Given the description of an element on the screen output the (x, y) to click on. 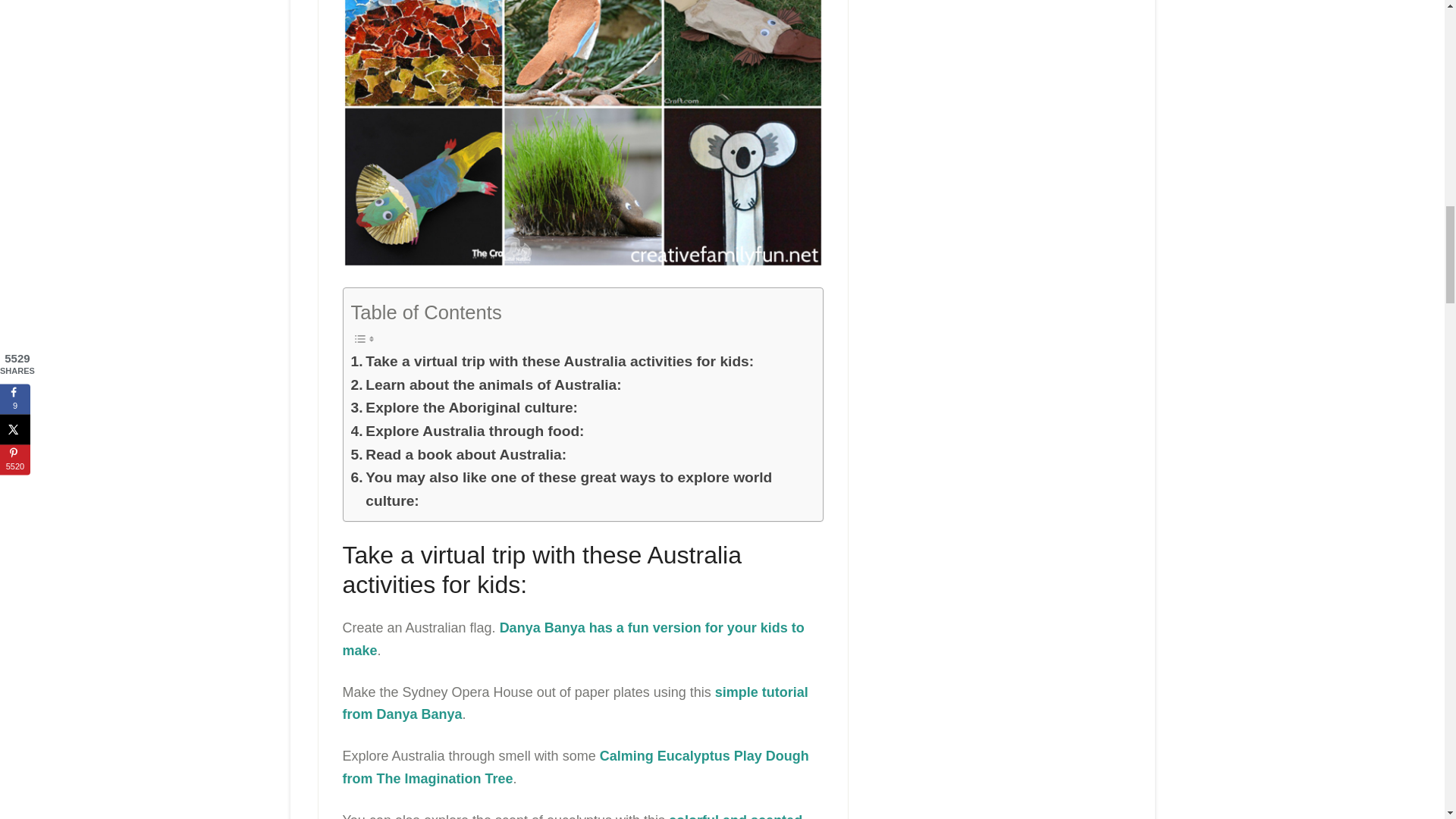
Read a book about Australia: (458, 454)
Explore Australia through food: (466, 431)
Learn about the animals of Australia: (485, 385)
Learn about the animals of Australia: (485, 385)
Read a book about Australia: (458, 454)
Explore Australia through food: (466, 431)
Explore the Aboriginal culture: (464, 408)
Explore the Aboriginal culture: (464, 408)
Danya Banya has a fun version for your kids to make (573, 638)
